Given the description of an element on the screen output the (x, y) to click on. 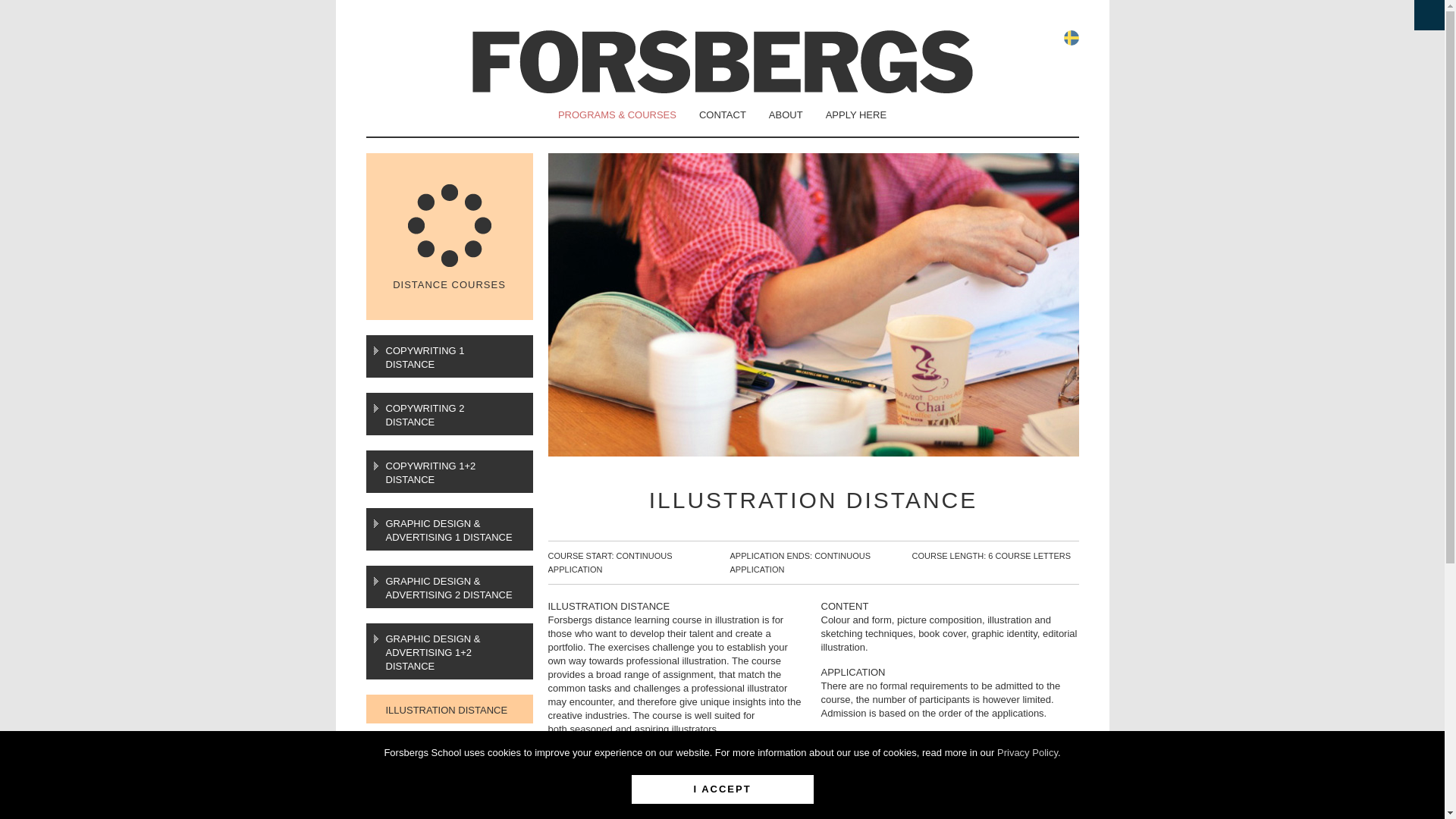
Forsbergsskola - Till startsidan (721, 61)
Svenska (1070, 37)
I ACCEPT (721, 788)
Privacy Policy (1027, 752)
Forsbergs (721, 61)
